Given the description of an element on the screen output the (x, y) to click on. 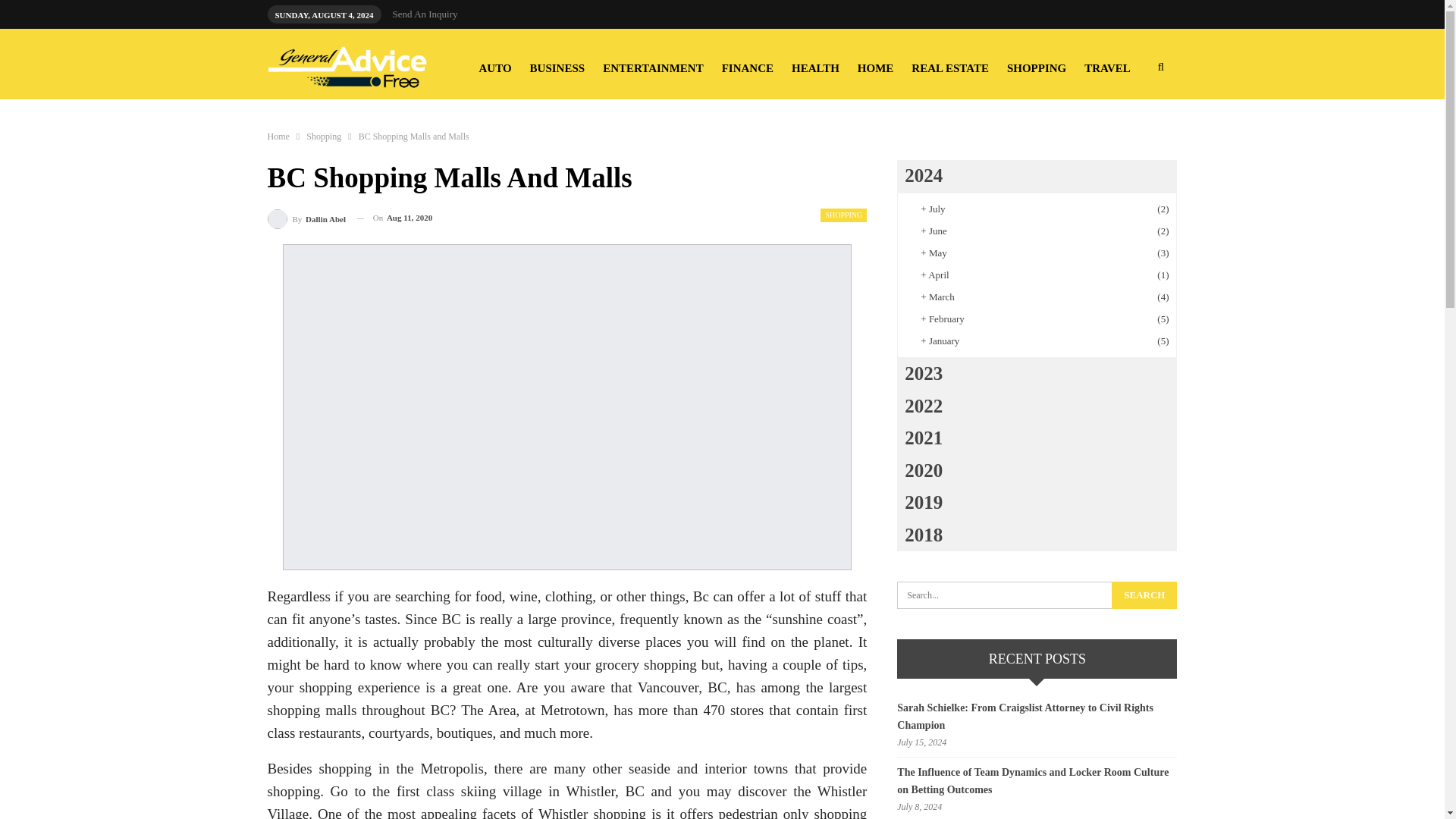
SHOPPING (1036, 68)
2024 (1036, 175)
ENTERTAINMENT (652, 68)
FINANCE (747, 68)
SHOPPING (843, 214)
REAL ESTATE (949, 68)
Shopping (322, 135)
Search (1144, 595)
Send An Inquiry (425, 13)
Browse Author Articles (305, 218)
Home (277, 135)
BUSINESS (557, 68)
Search (1144, 595)
By Dallin Abel (305, 218)
Search for: (1036, 595)
